Given the description of an element on the screen output the (x, y) to click on. 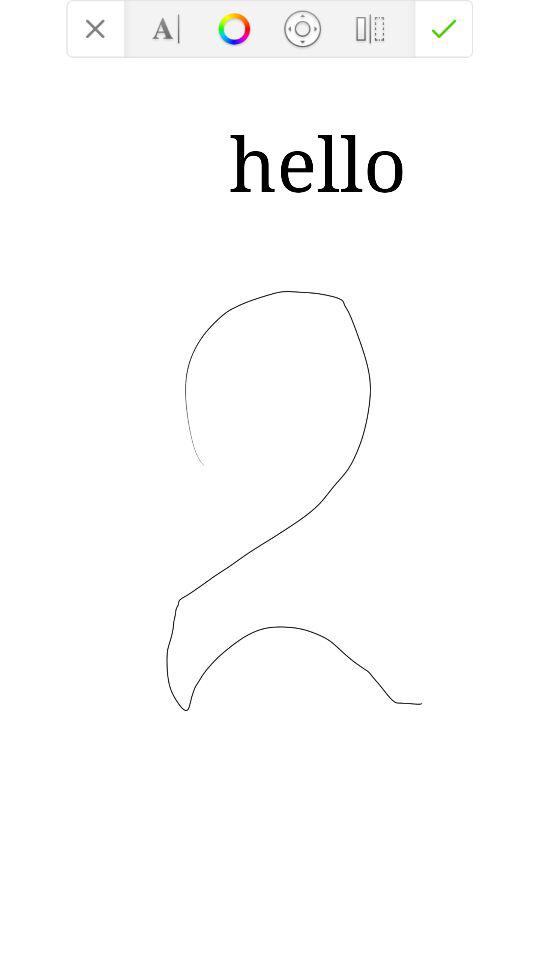
change color (234, 28)
